Given the description of an element on the screen output the (x, y) to click on. 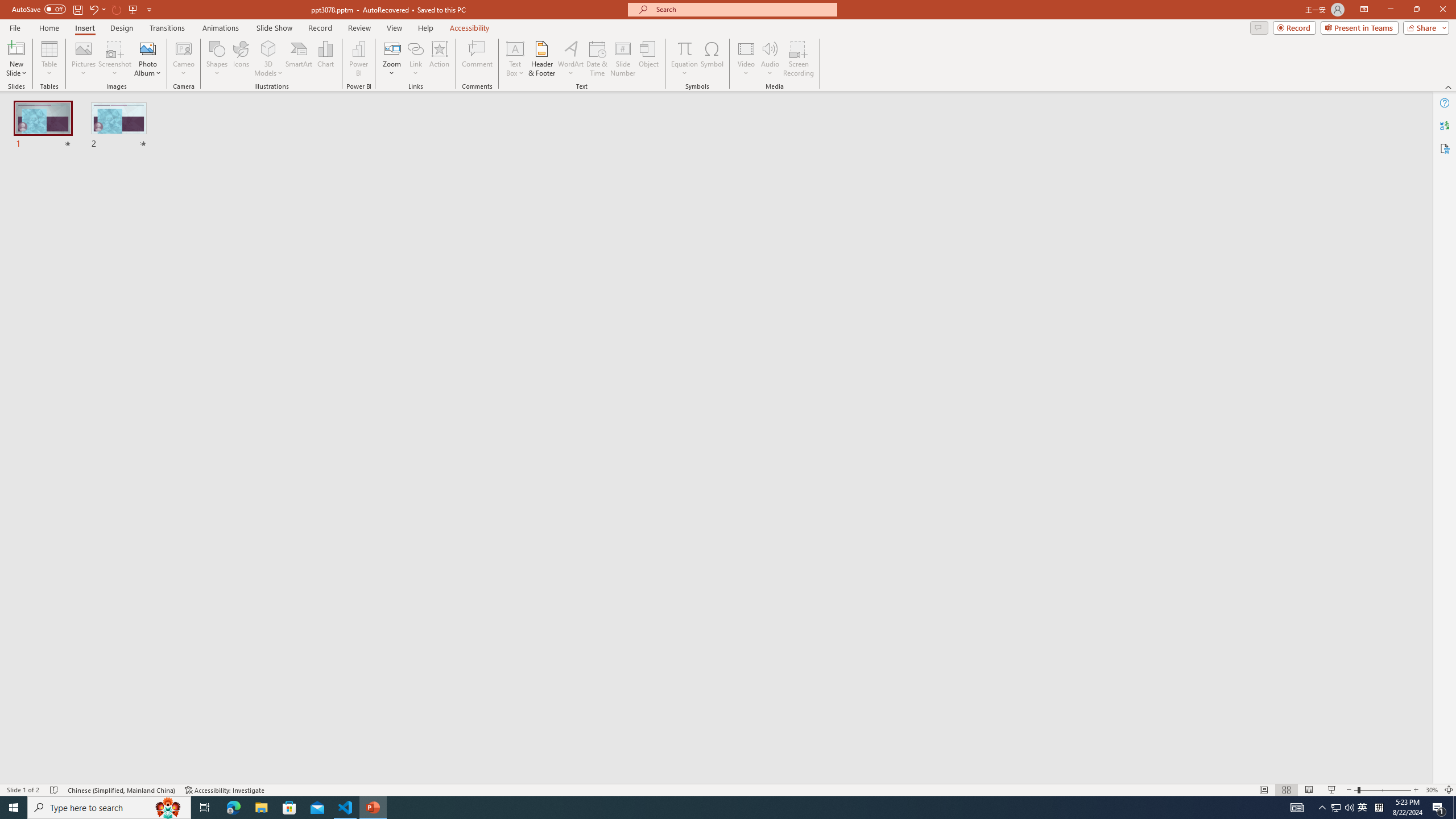
Action (439, 58)
Header & Footer... (541, 58)
Comment (476, 58)
Date & Time... (596, 58)
Zoom 30% (1431, 790)
SmartArt... (298, 58)
